Given the description of an element on the screen output the (x, y) to click on. 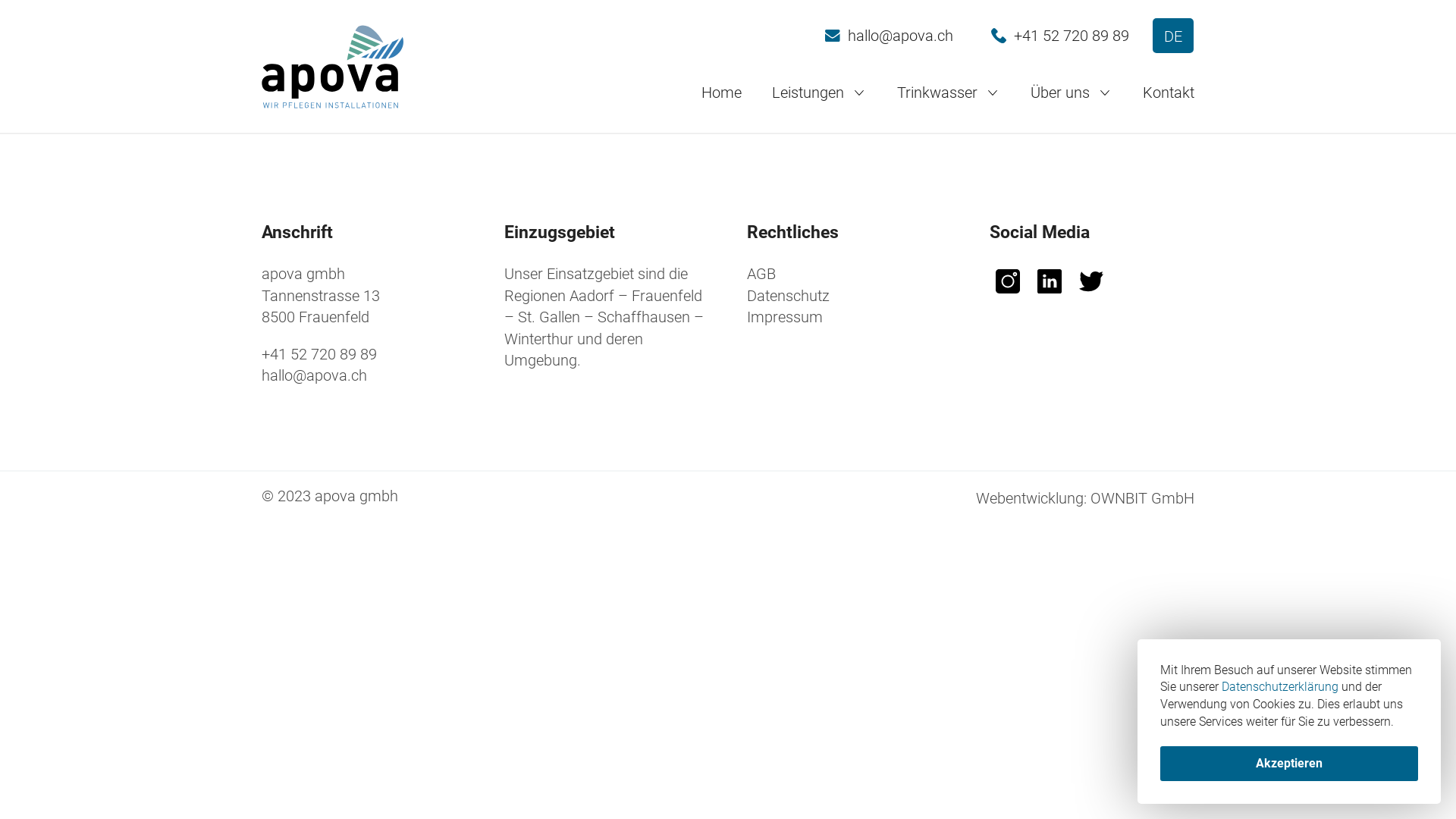
DE Element type: text (1172, 35)
Leistungen Element type: text (818, 92)
hallo@apova.ch Element type: text (314, 375)
+41 52 720 89 89 Element type: text (318, 354)
+41 52 720 89 89 Element type: text (1059, 35)
Trinkwasser Element type: text (948, 92)
Kontakt Element type: text (1168, 92)
Impressum Element type: text (784, 316)
Datenschutz Element type: text (787, 295)
hallo@apova.ch Element type: text (888, 35)
Webentwicklung: OWNBIT GmbH Element type: text (1084, 498)
Home Element type: text (721, 92)
AGB Element type: text (760, 273)
